Given the description of an element on the screen output the (x, y) to click on. 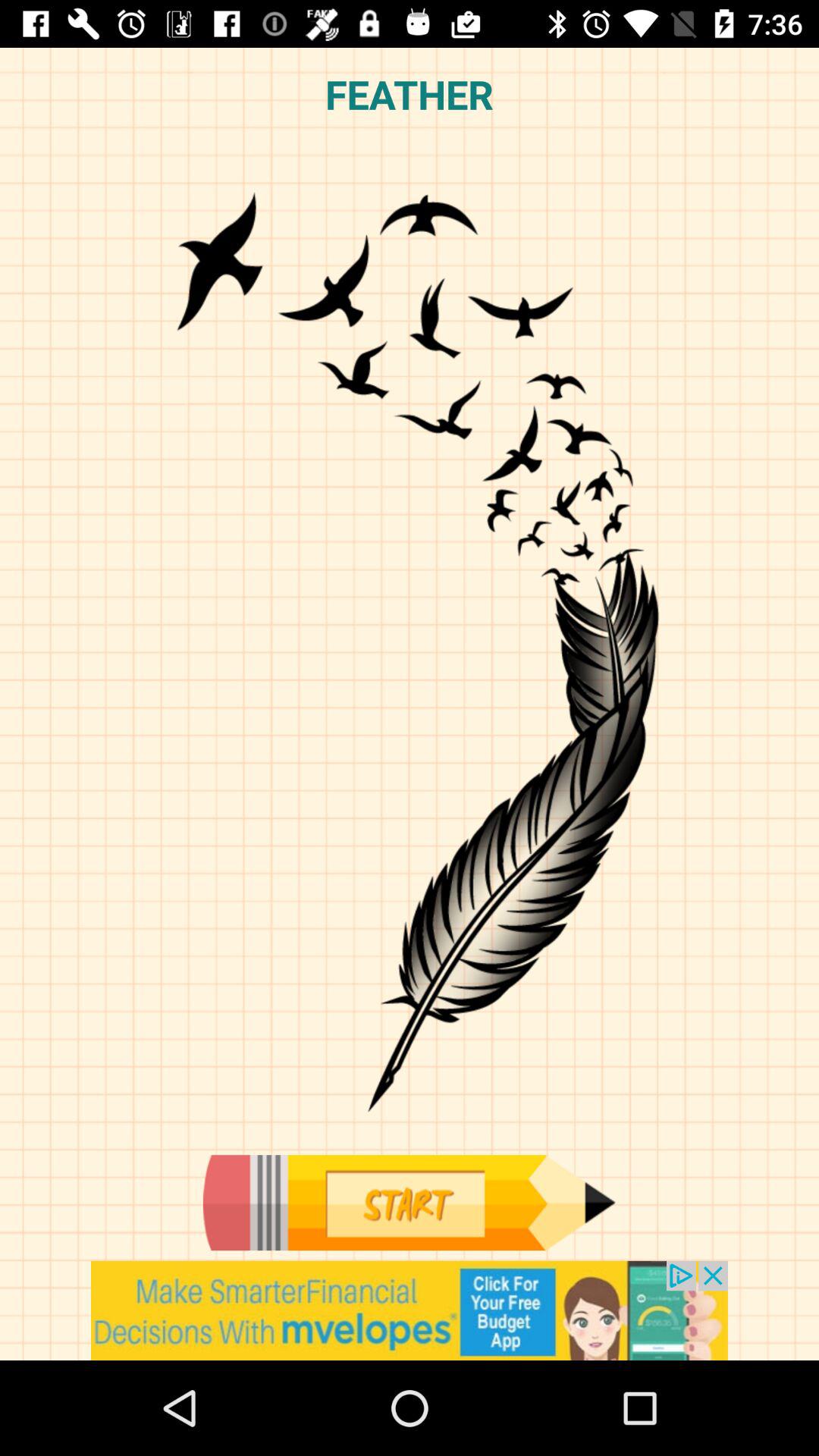
launch advertisement (409, 1310)
